Given the description of an element on the screen output the (x, y) to click on. 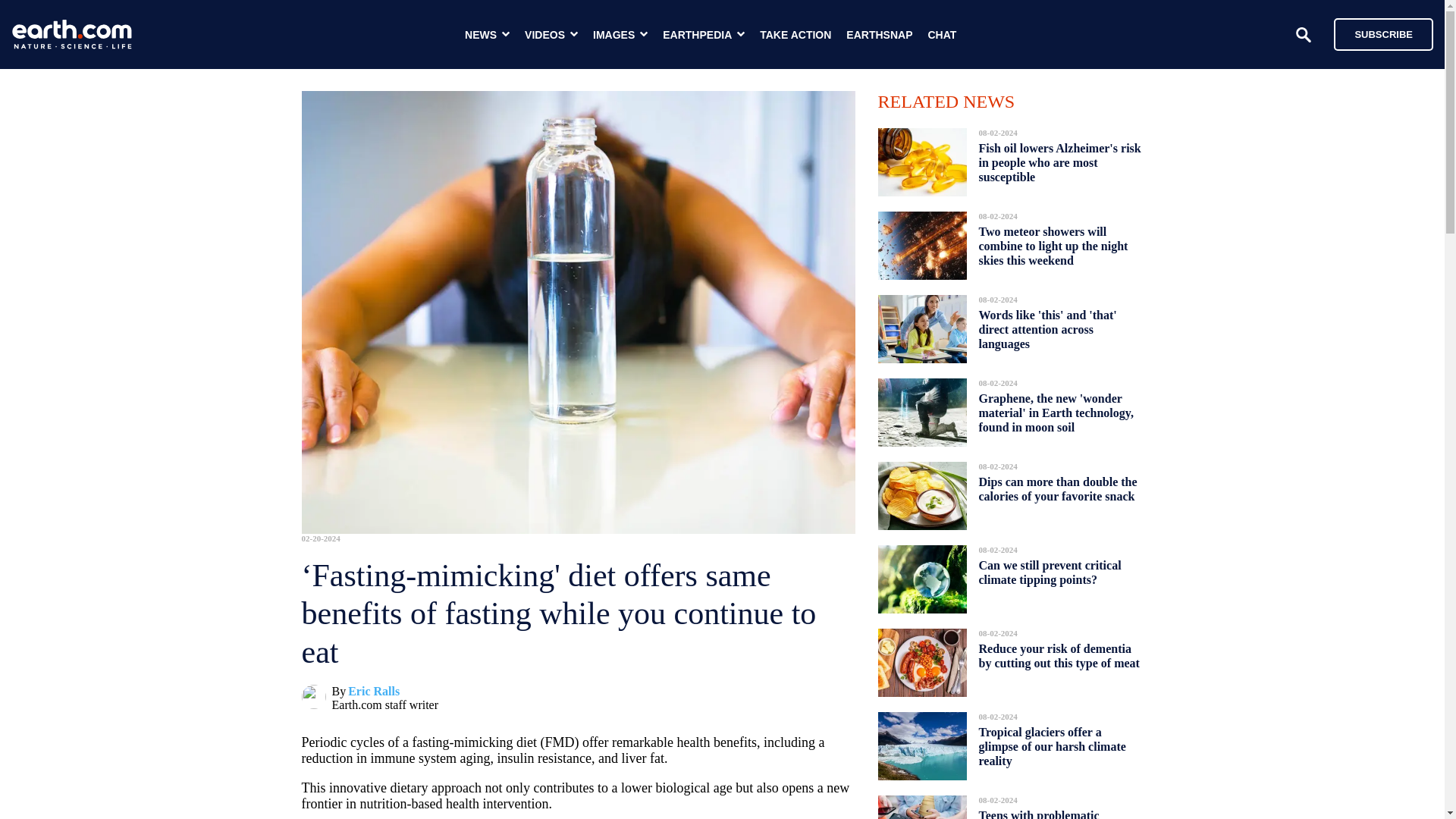
Eric Ralls (372, 690)
CHAT (941, 34)
Teens with problematic smartphone use suffer from depression (1049, 810)
Can we still prevent critical climate tipping points? (1049, 572)
TAKE ACTION (795, 34)
SUBSCRIBE (1375, 33)
EARTHSNAP (878, 34)
SUBSCRIBE (1382, 34)
